Given the description of an element on the screen output the (x, y) to click on. 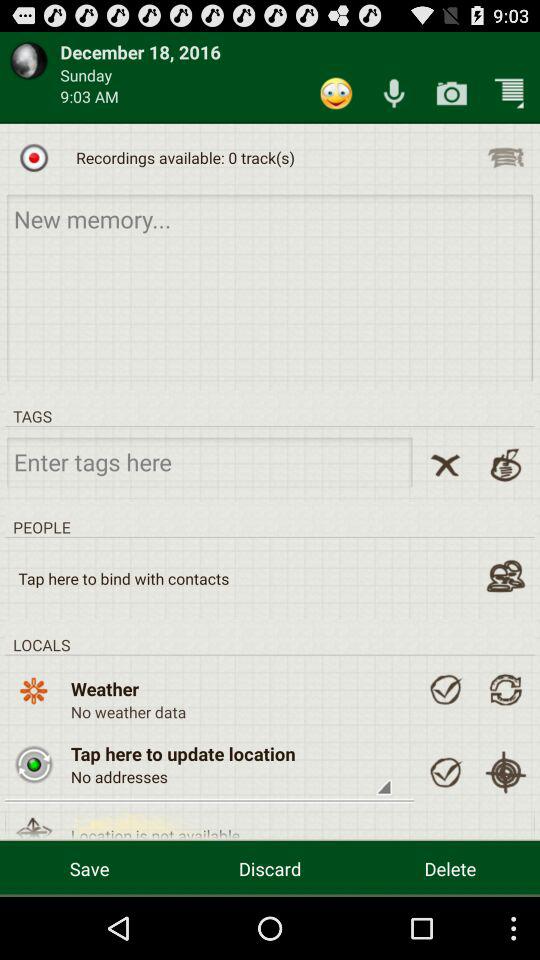
go to recording (505, 157)
